Given the description of an element on the screen output the (x, y) to click on. 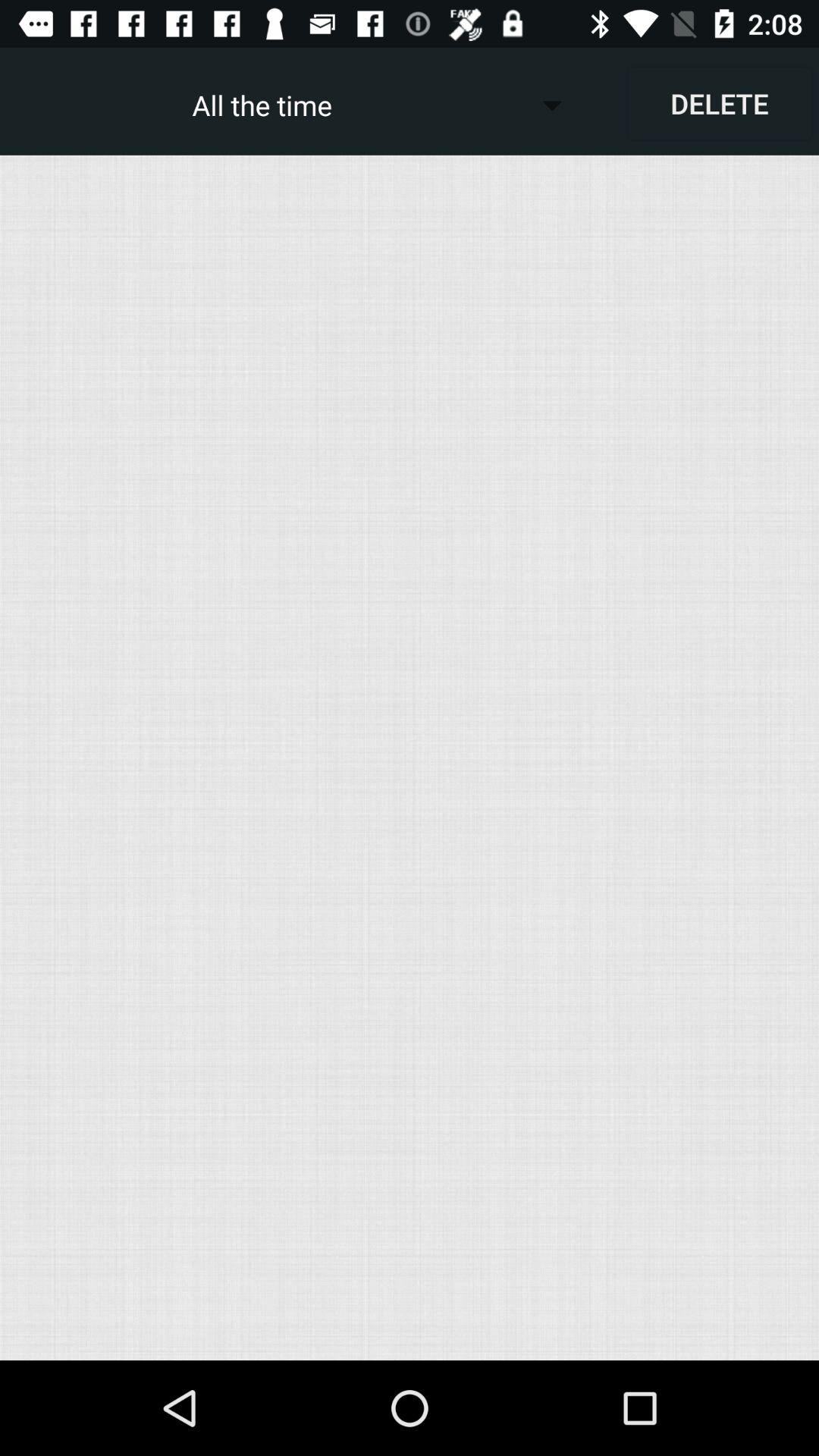
jump to delete (719, 103)
